Given the description of an element on the screen output the (x, y) to click on. 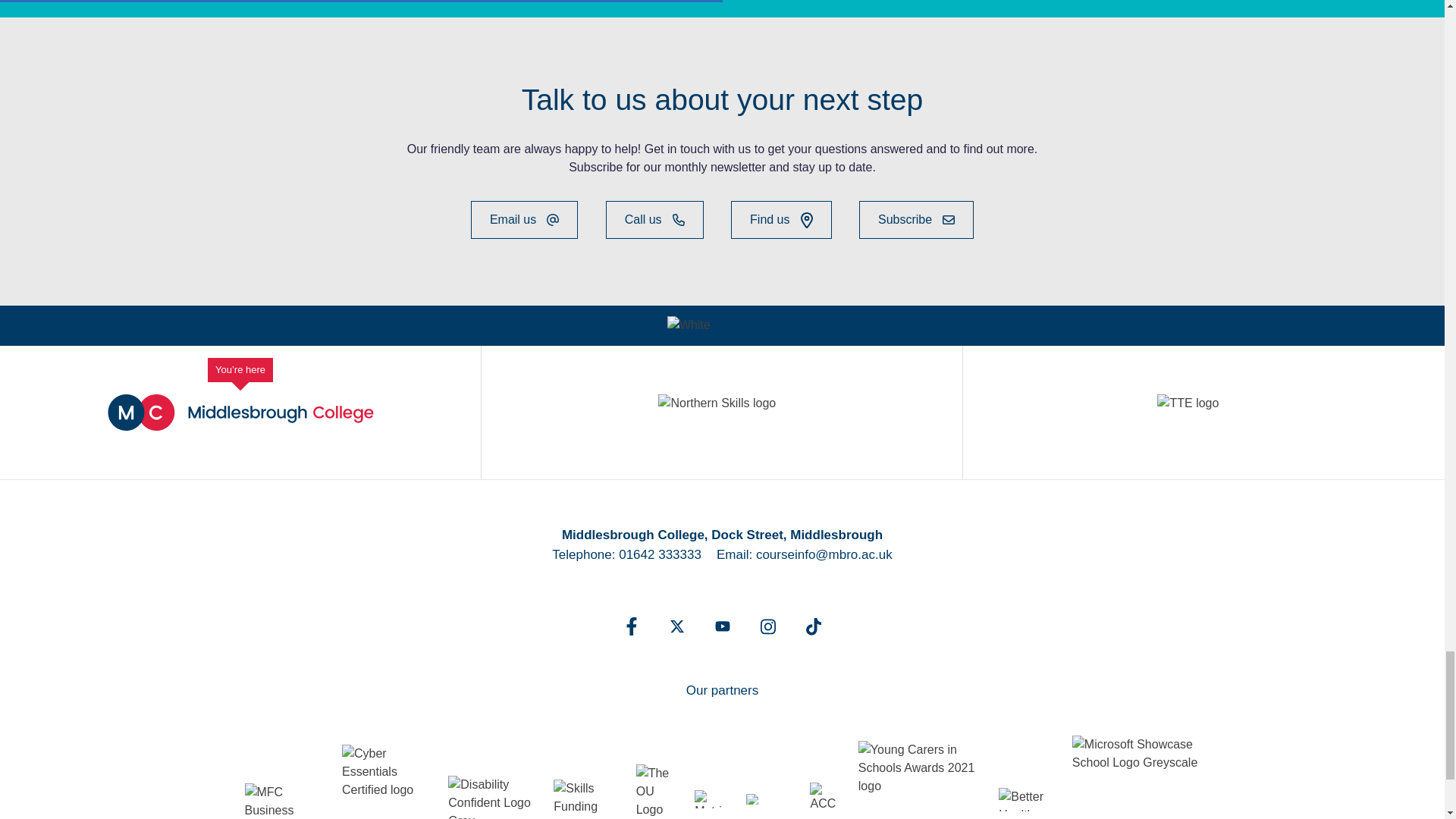
TTE Logo (1203, 412)
Middlesbrough College logo (240, 411)
Northern Skills logo (721, 412)
